Given the description of an element on the screen output the (x, y) to click on. 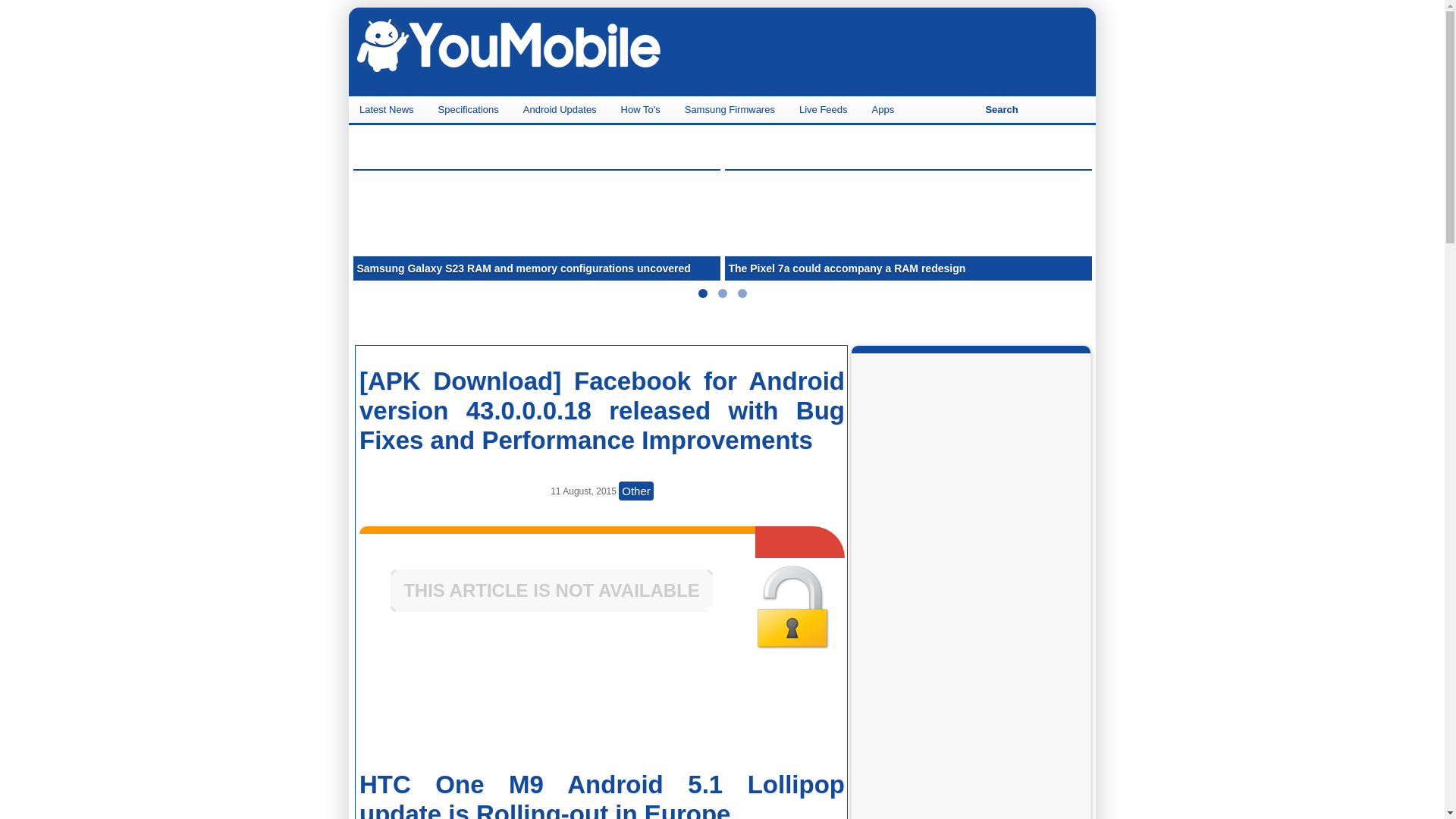
Apps (884, 109)
Specifications (470, 109)
Share This Article on Twitter (760, 708)
Samsung Firmwares (731, 109)
Search (1001, 109)
Android Updates (561, 109)
Live Feeds (825, 109)
How To's (642, 109)
Latest News (388, 109)
Share This Article on Facebook (440, 708)
